Given the description of an element on the screen output the (x, y) to click on. 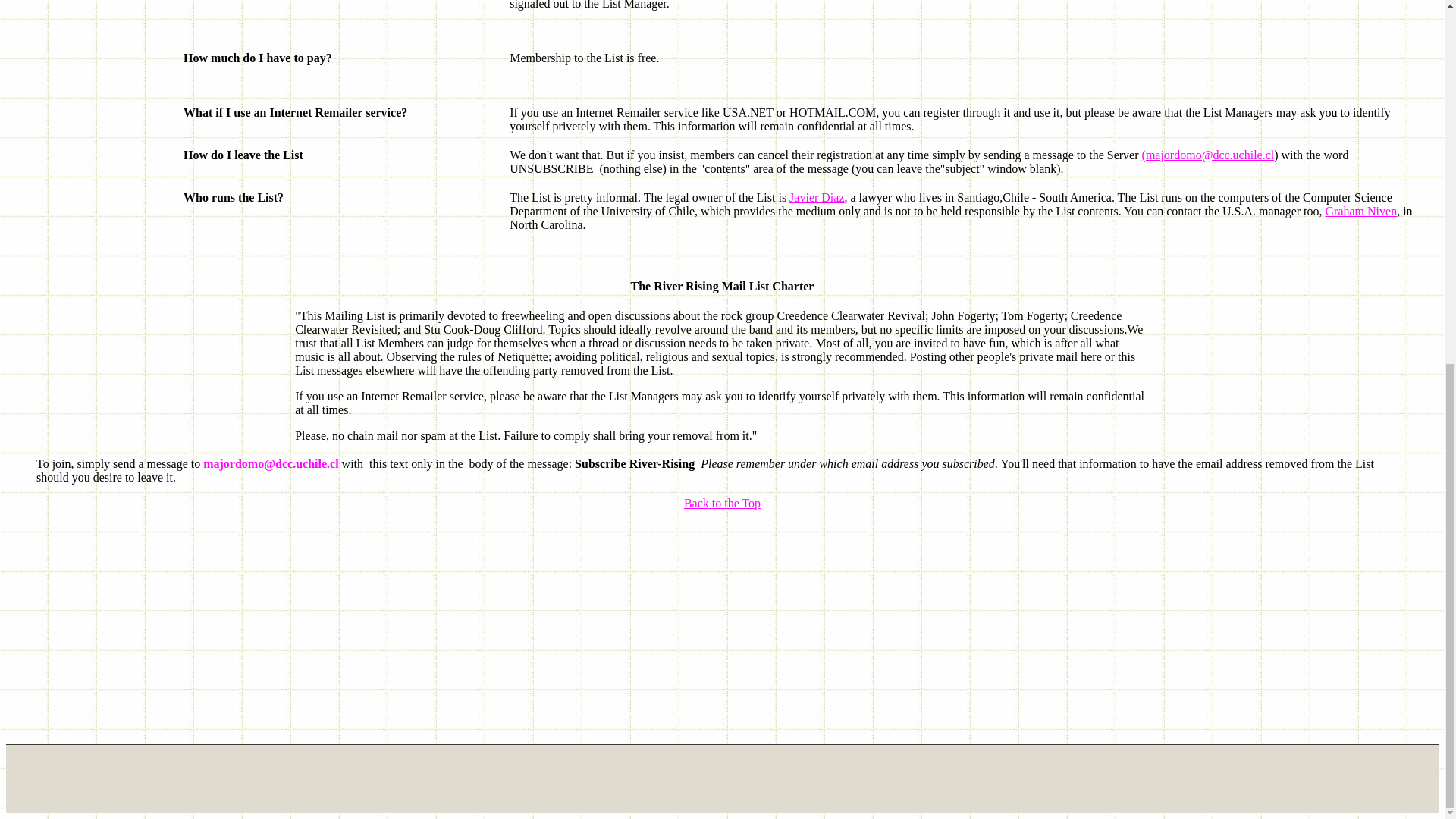
Javier Diaz (816, 196)
Graham Niven (1360, 210)
Back to the Top (722, 502)
